Given the description of an element on the screen output the (x, y) to click on. 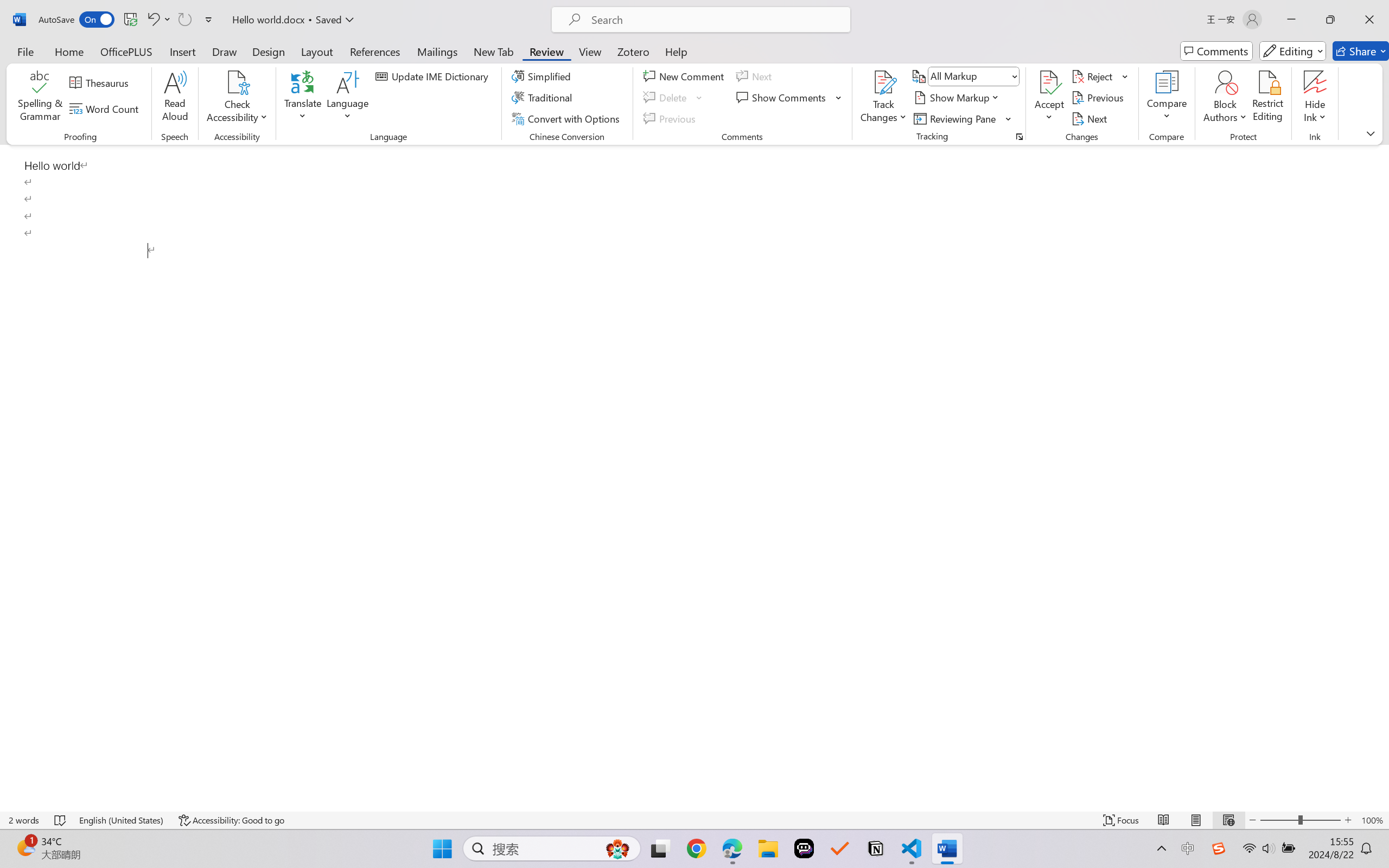
File Tab (24, 51)
Reject and Move to Next (1093, 75)
Simplified (542, 75)
Class: NetUIScrollBar (1382, 477)
Insert (182, 51)
Class: MsoCommandBar (694, 819)
Minimize (1291, 19)
Open (1014, 76)
References (375, 51)
Accept and Move to Next (1049, 81)
New Comment (685, 75)
AutoSave (76, 19)
Block Authors (1224, 81)
Can't Repeat (184, 19)
